Given the description of an element on the screen output the (x, y) to click on. 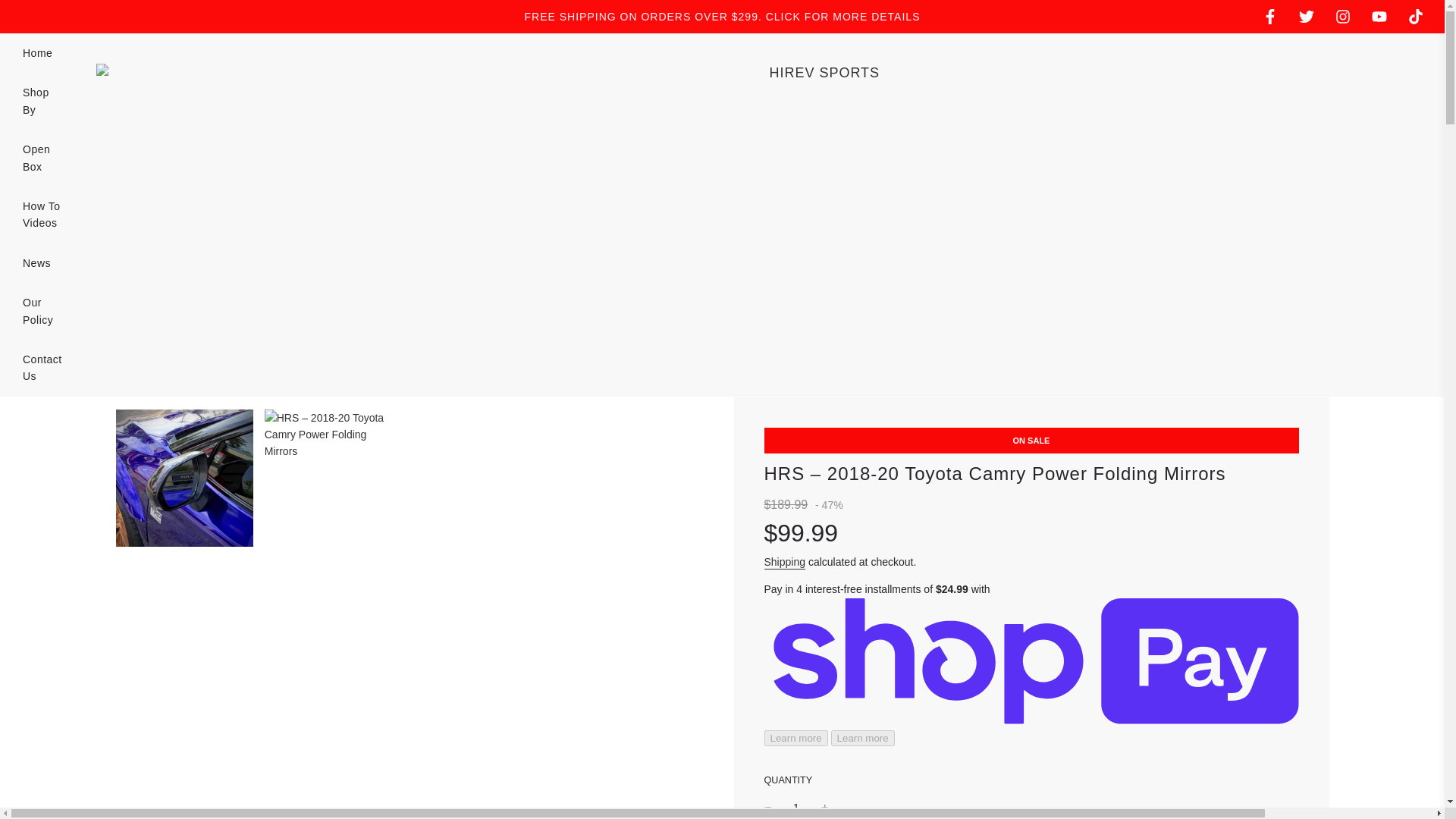
1 (796, 807)
Open Box (42, 157)
Home (37, 52)
Shop By (42, 100)
